Given the description of an element on the screen output the (x, y) to click on. 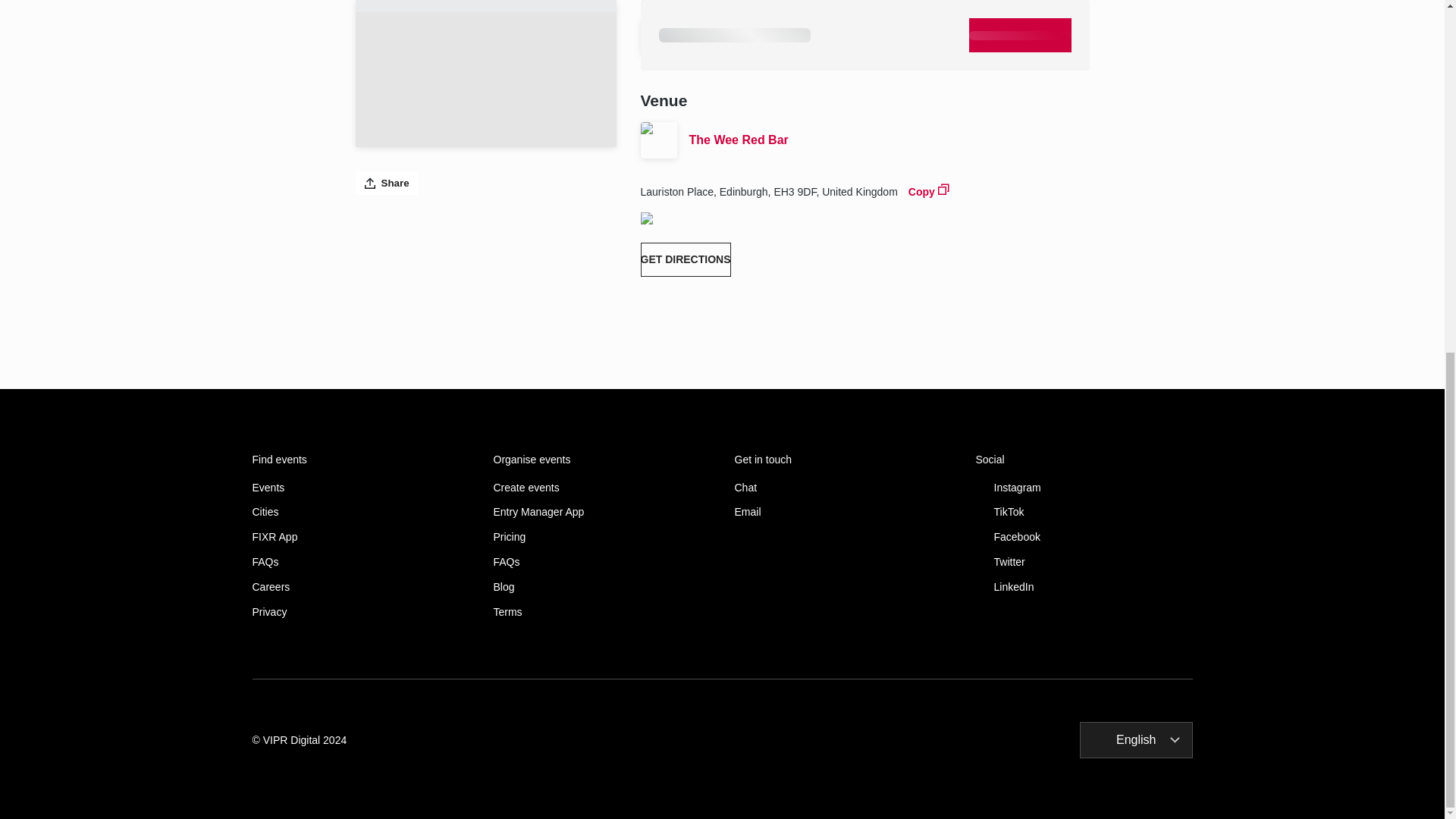
Events (359, 487)
FIXR App (359, 536)
Cities (359, 512)
TikTok (1083, 512)
Careers (359, 586)
The Wee Red Bar (888, 140)
Twitter (1083, 562)
Pricing (601, 536)
Privacy (359, 612)
Email (841, 512)
